Given the description of an element on the screen output the (x, y) to click on. 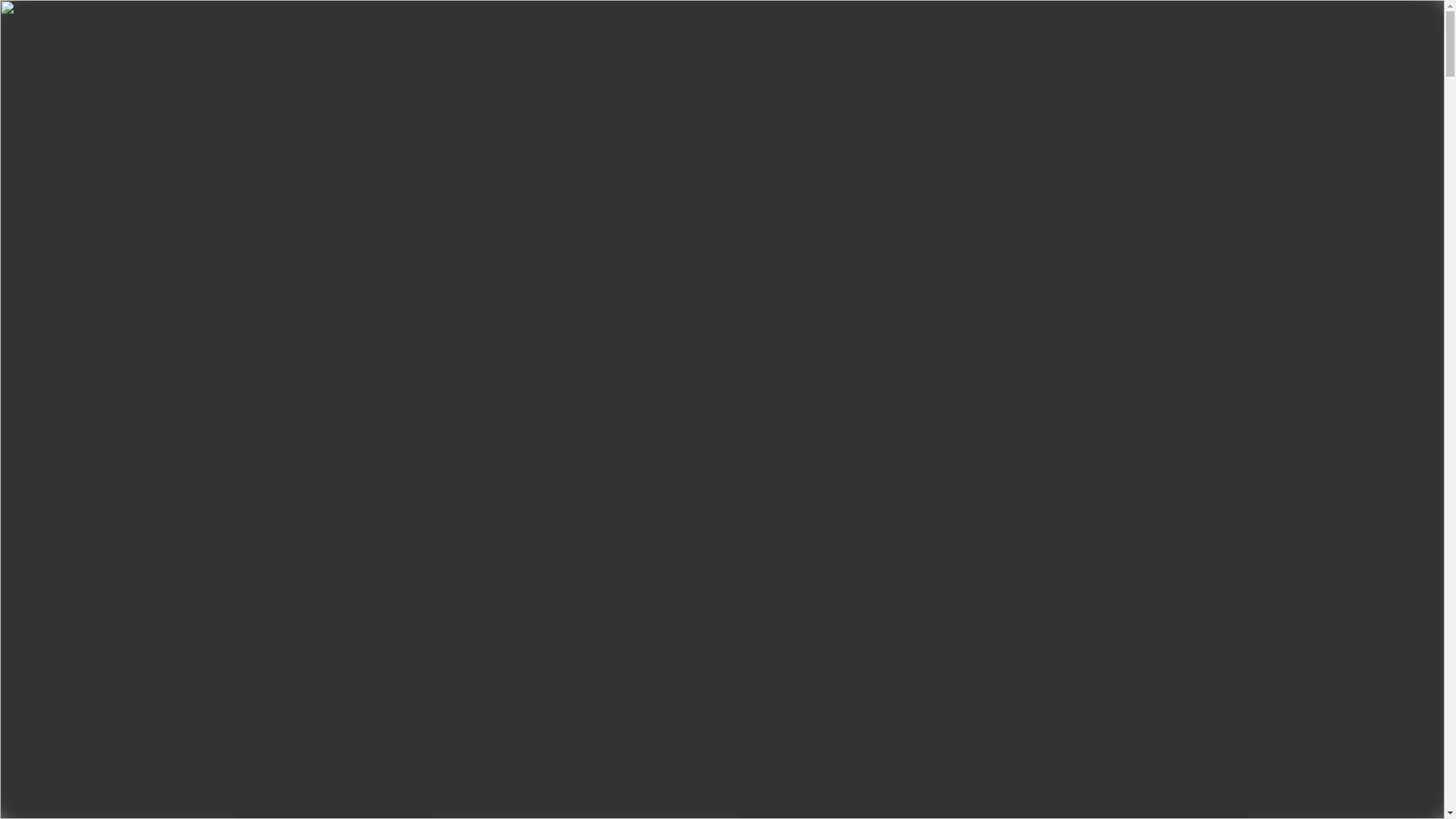
Menu (24, 37)
Stack (50, 115)
Book a call (35, 158)
Articles (55, 102)
Projects (55, 88)
About (51, 74)
Book a call (35, 159)
